Given the description of an element on the screen output the (x, y) to click on. 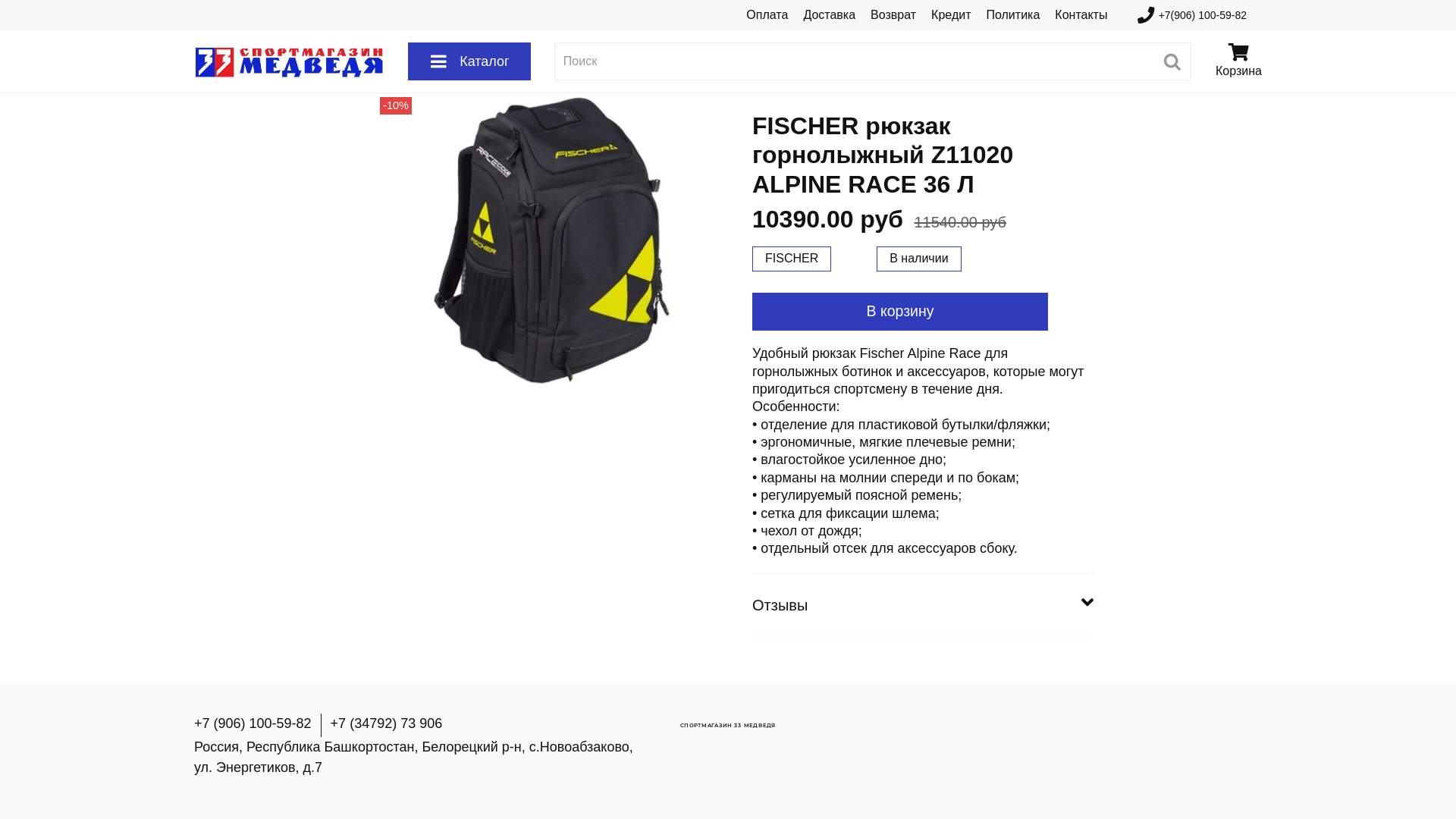
+7 (34792) 73 906 Element type: text (386, 723)
FISCHER Element type: text (791, 259)
+7 (906) 100-59-82 Element type: text (252, 723)
+7(906) 100-59-82 Element type: text (1191, 15)
